Given the description of an element on the screen output the (x, y) to click on. 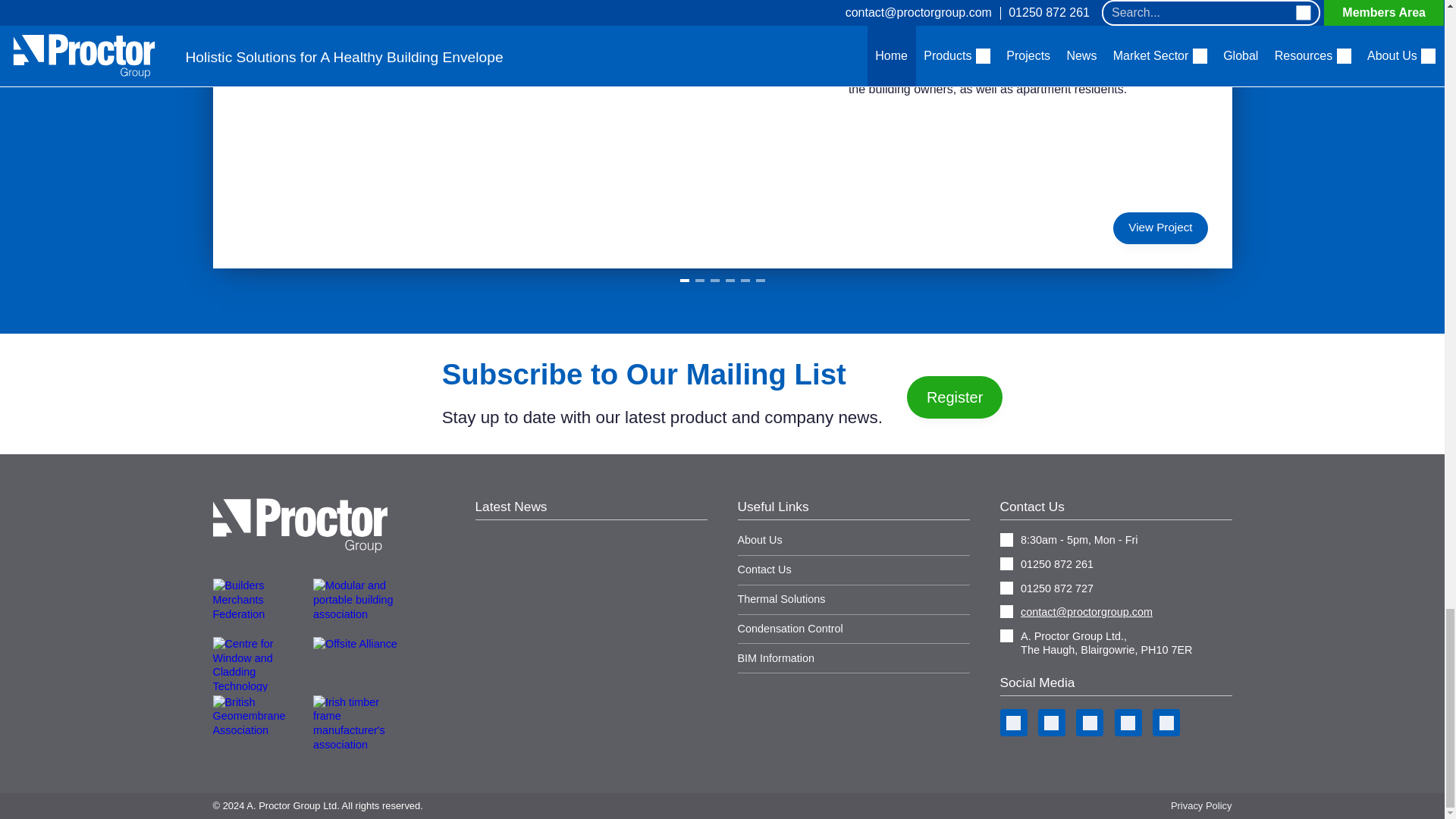
Irish timber frame manufacturer's association (361, 722)
Builders Merchants Federation (260, 605)
British Geomembrane Association (260, 722)
Modular and portable building association (361, 605)
Offsite Alliance (361, 664)
Centre for Window and Cladding Technology (260, 664)
